Given the description of an element on the screen output the (x, y) to click on. 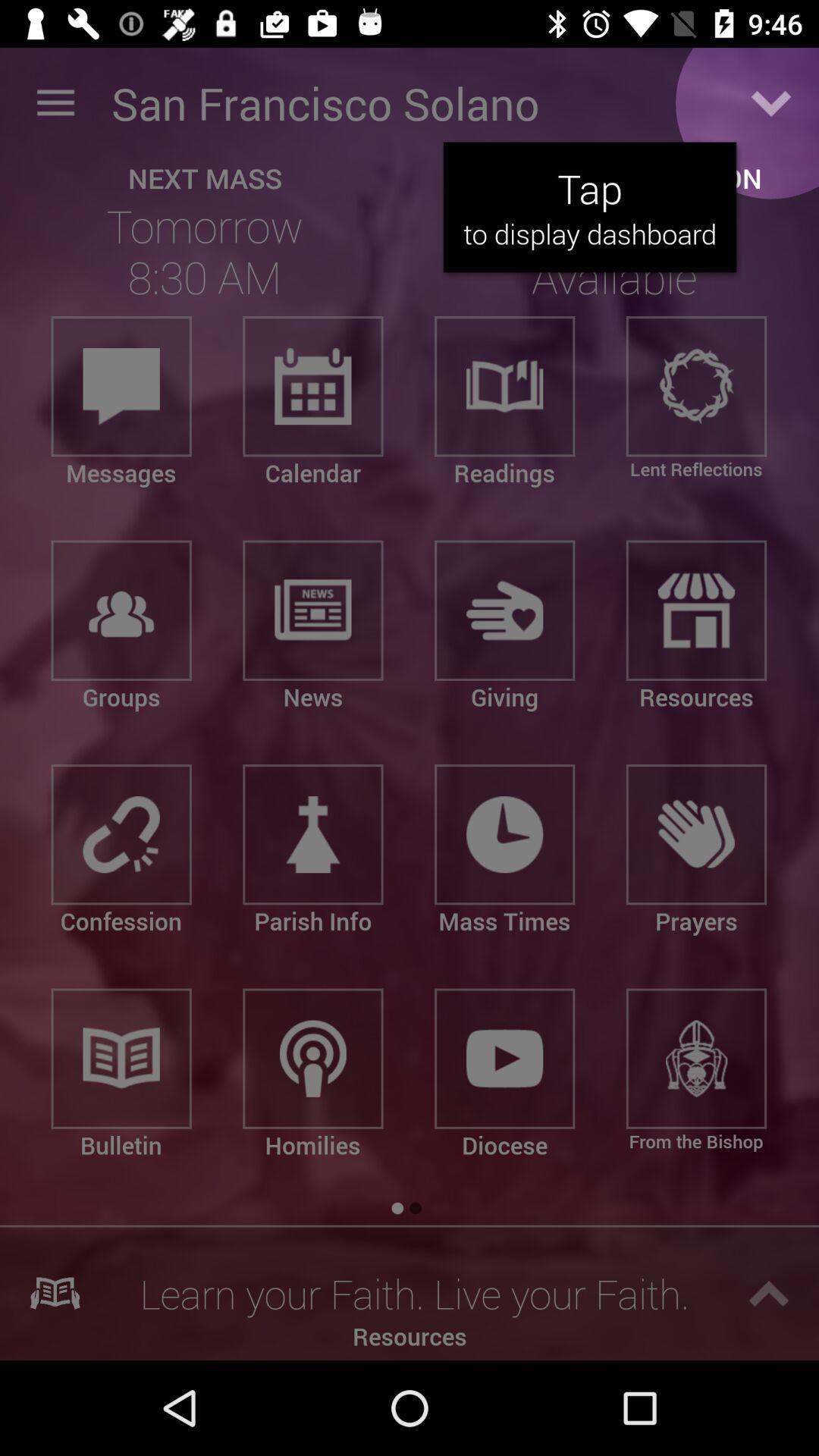
select the icon to the left of san francisco solano icon (55, 103)
